Given the description of an element on the screen output the (x, y) to click on. 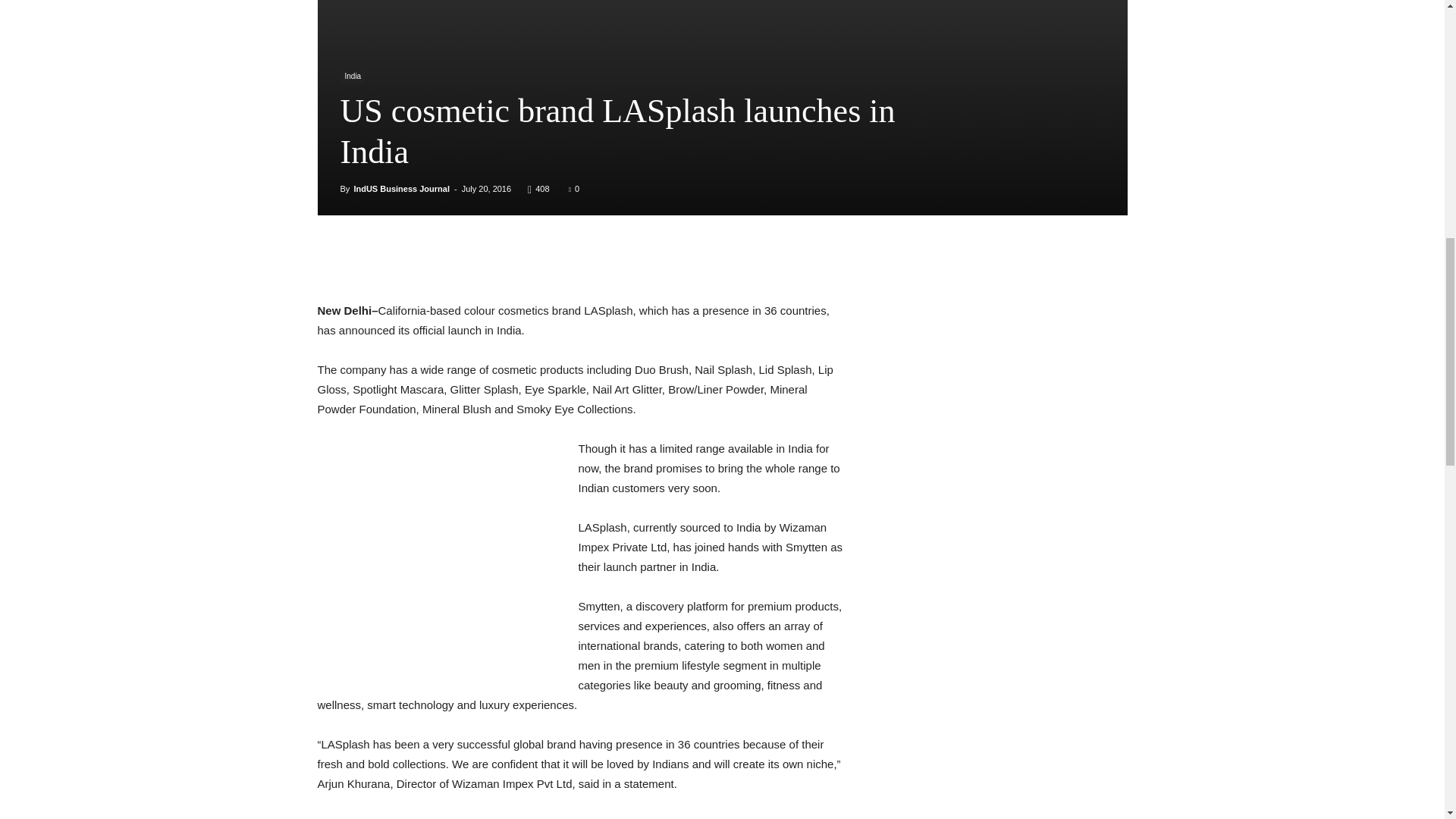
0 (574, 188)
IndUS Business Journal (401, 188)
India (352, 76)
